Given the description of an element on the screen output the (x, y) to click on. 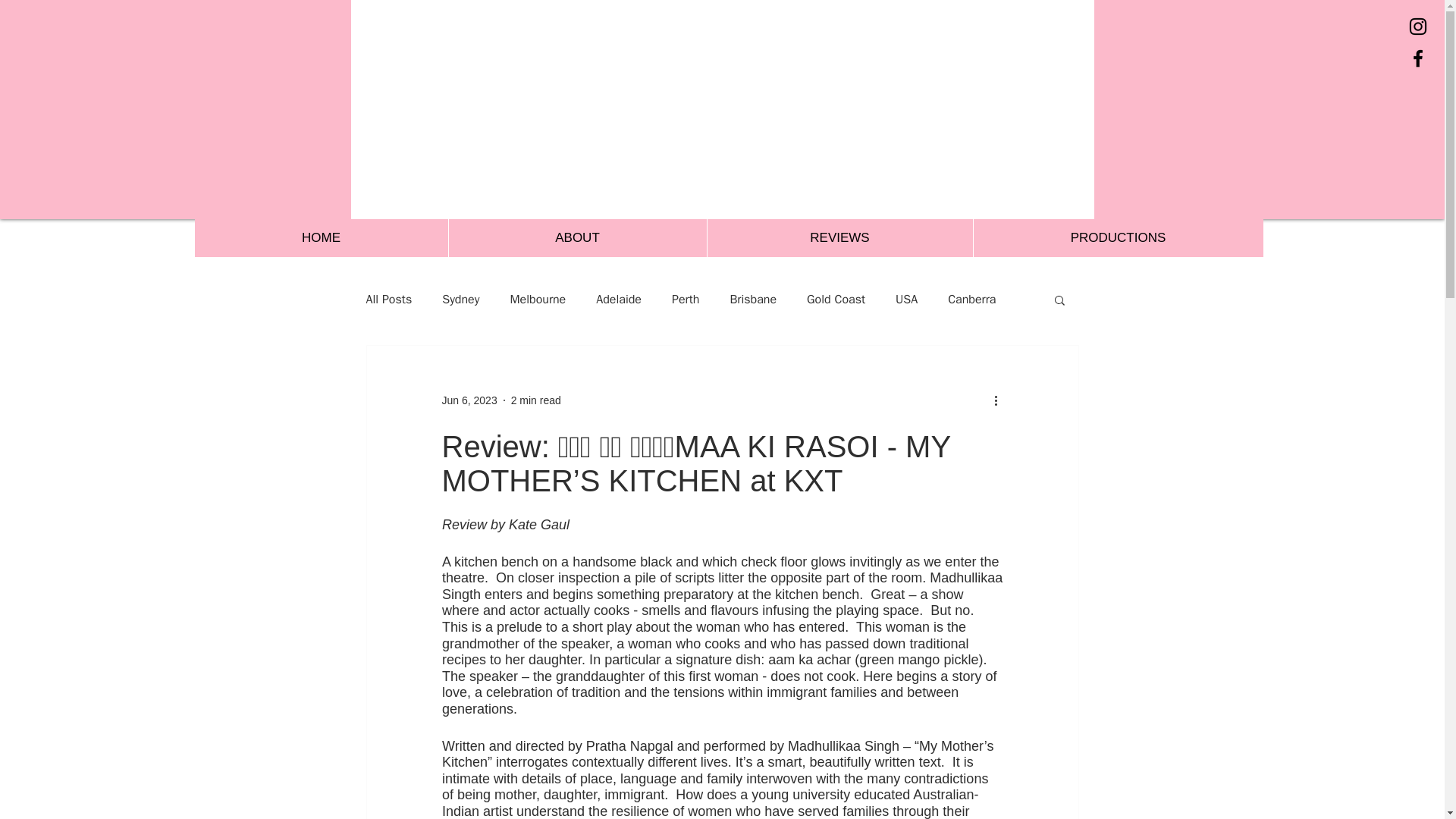
2 min read (535, 399)
Sydney (460, 299)
Perth (684, 299)
All Posts (388, 299)
Gold Coast (835, 299)
Jun 6, 2023 (468, 399)
USA (906, 299)
Brisbane (752, 299)
Adelaide (618, 299)
REVIEWS (839, 238)
Canberra (971, 299)
HOME (319, 238)
Melbourne (537, 299)
ABOUT (576, 238)
